Given the description of an element on the screen output the (x, y) to click on. 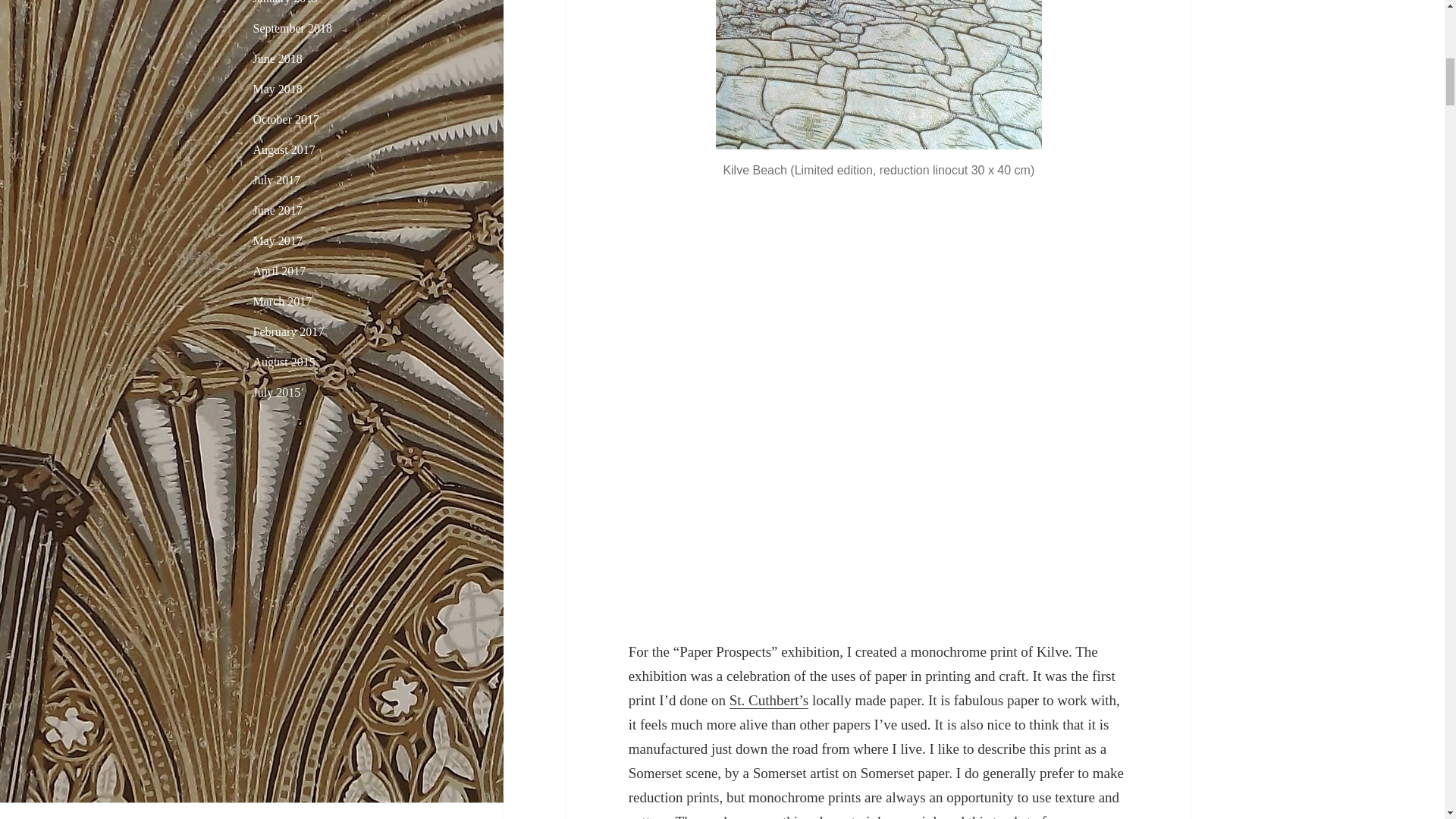
January 2019 (285, 2)
Advertisement (878, 305)
October 2017 (286, 119)
August 2015 (284, 361)
September 2018 (292, 28)
April 2017 (279, 270)
February 2017 (288, 331)
Advertisement (878, 526)
May 2017 (277, 240)
Advertisement (346, 571)
March 2017 (283, 300)
July 2015 (277, 391)
June 2018 (277, 58)
May 2018 (277, 88)
June 2017 (277, 210)
